Given the description of an element on the screen output the (x, y) to click on. 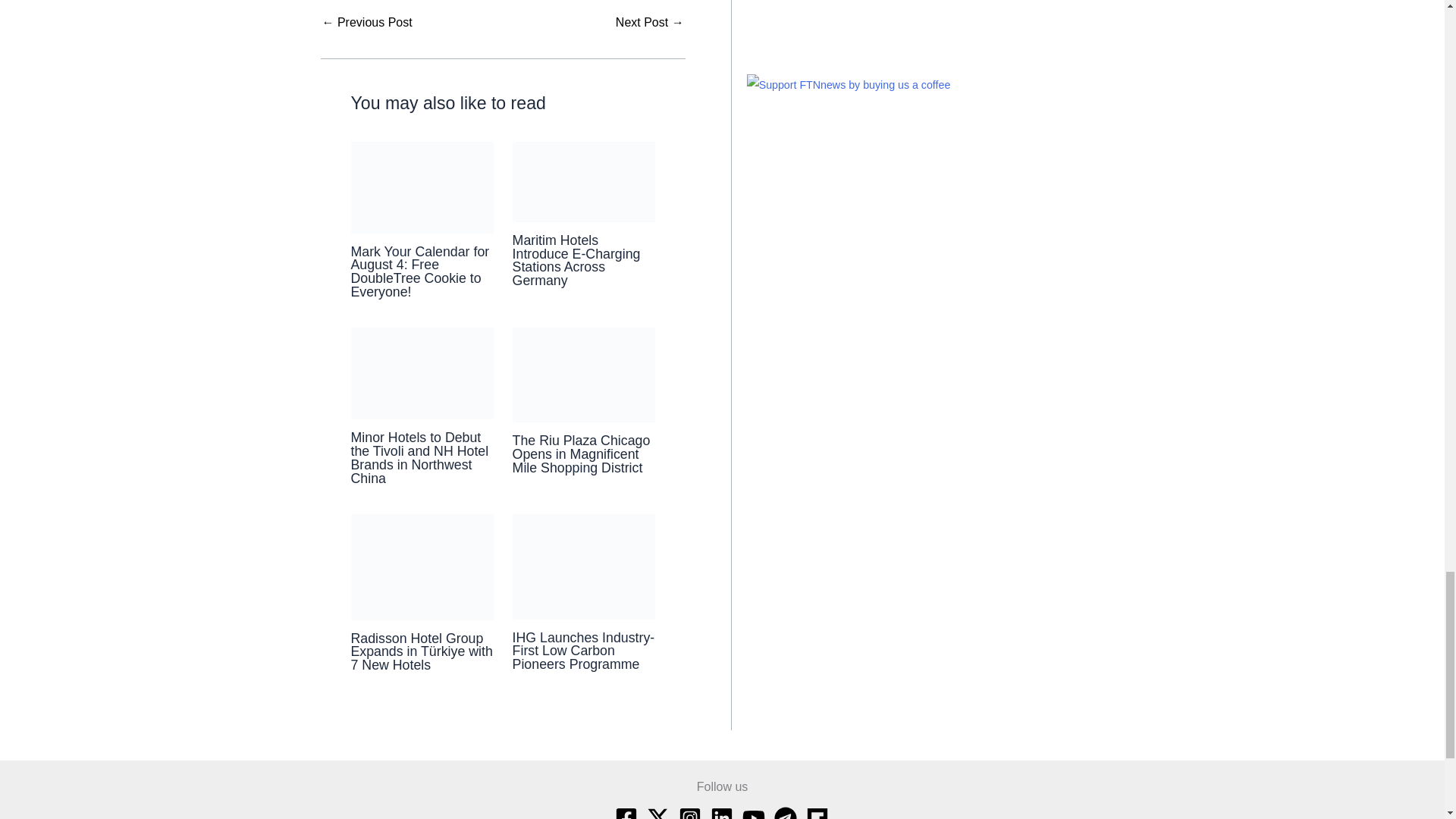
What Worries the World Most in January 2020? (649, 22)
